Given the description of an element on the screen output the (x, y) to click on. 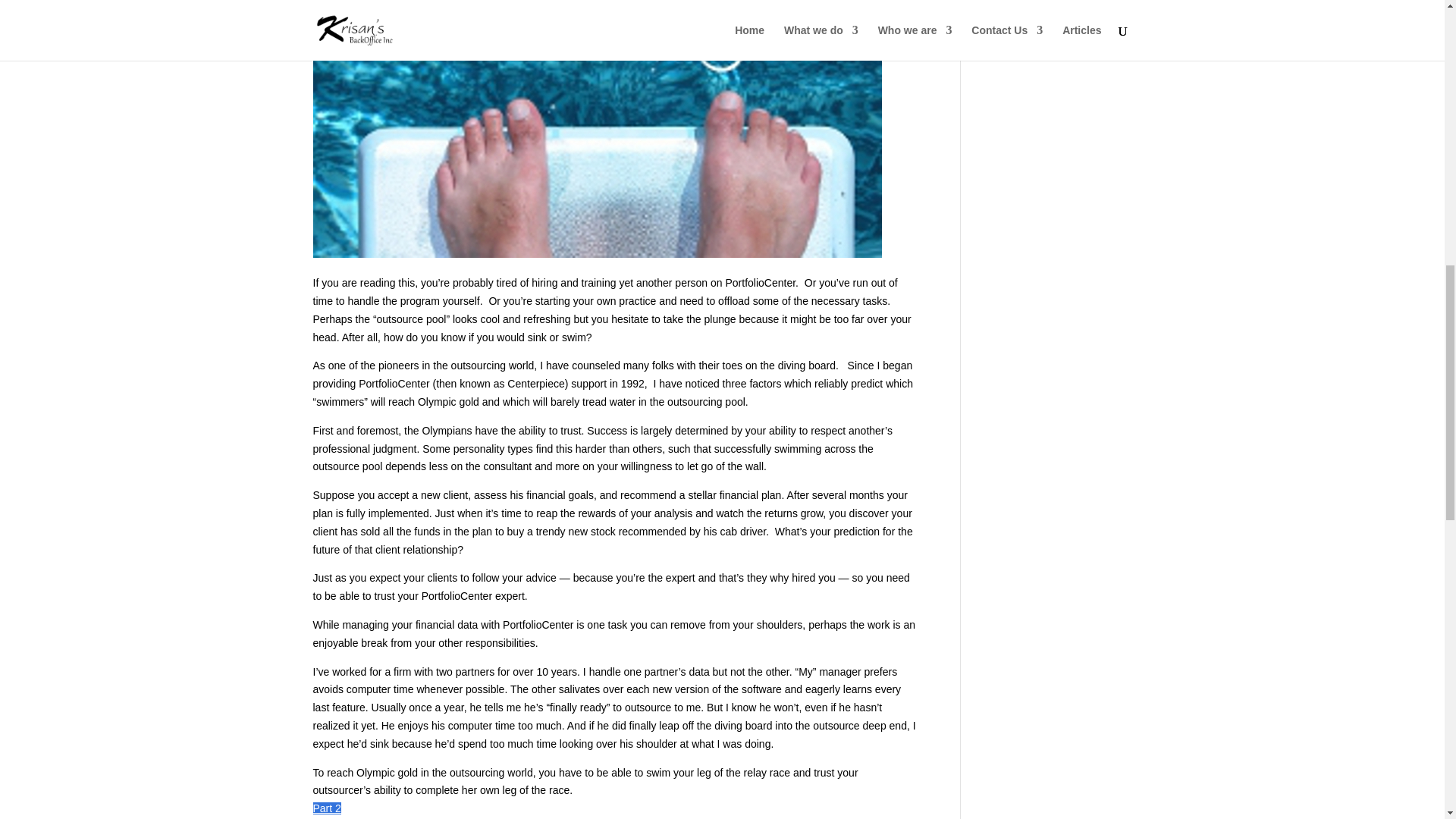
Part 2 (326, 808)
